Given the description of an element on the screen output the (x, y) to click on. 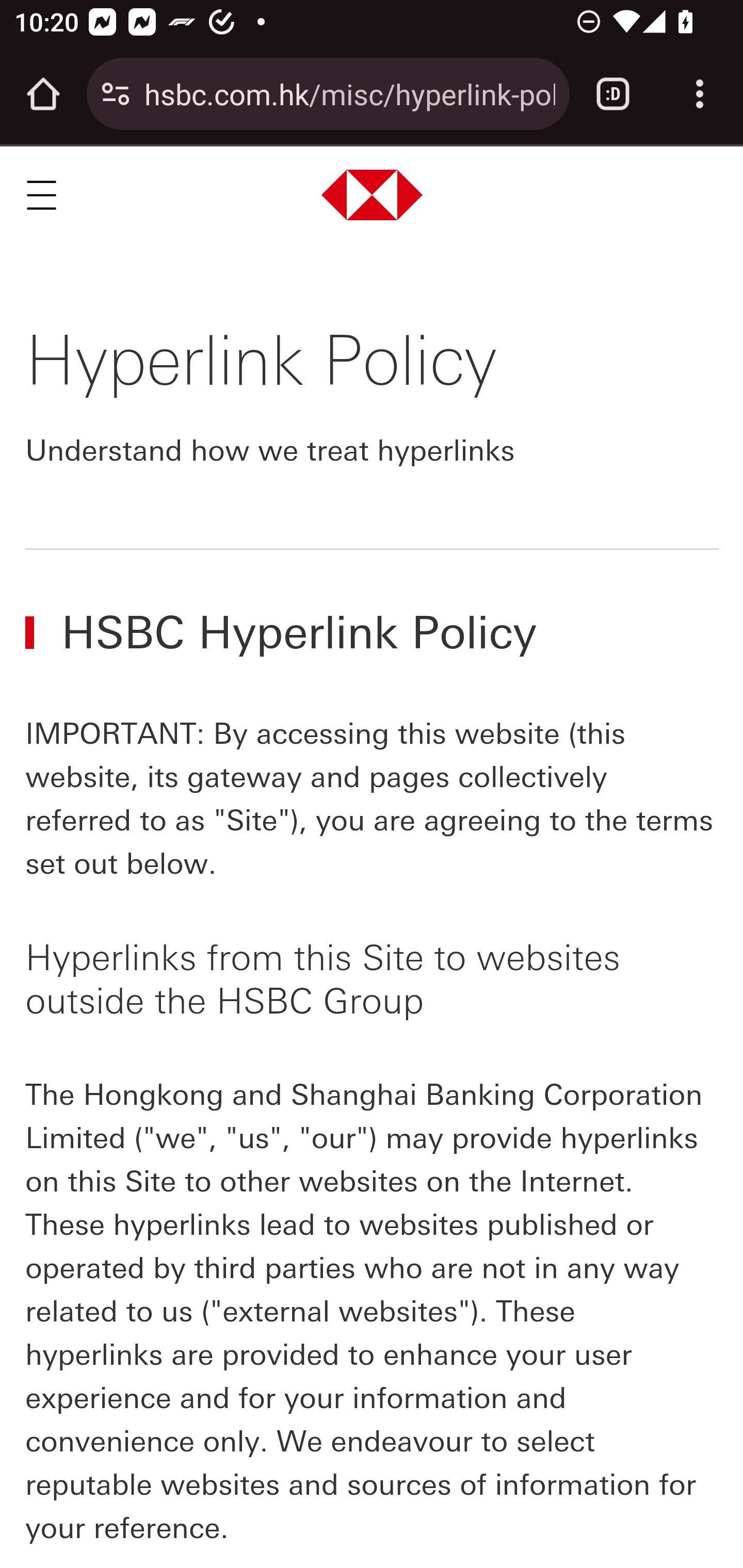
Open the home page (43, 93)
Connection is secure (115, 93)
Switch or close tabs (612, 93)
Customize and control Google Chrome (699, 93)
hsbc.com.hk/misc/hyperlink-policy/ (349, 92)
HSBC Hong Kong Bank (372, 194)
Mobile Menu Trigger (41, 195)
